Given the description of an element on the screen output the (x, y) to click on. 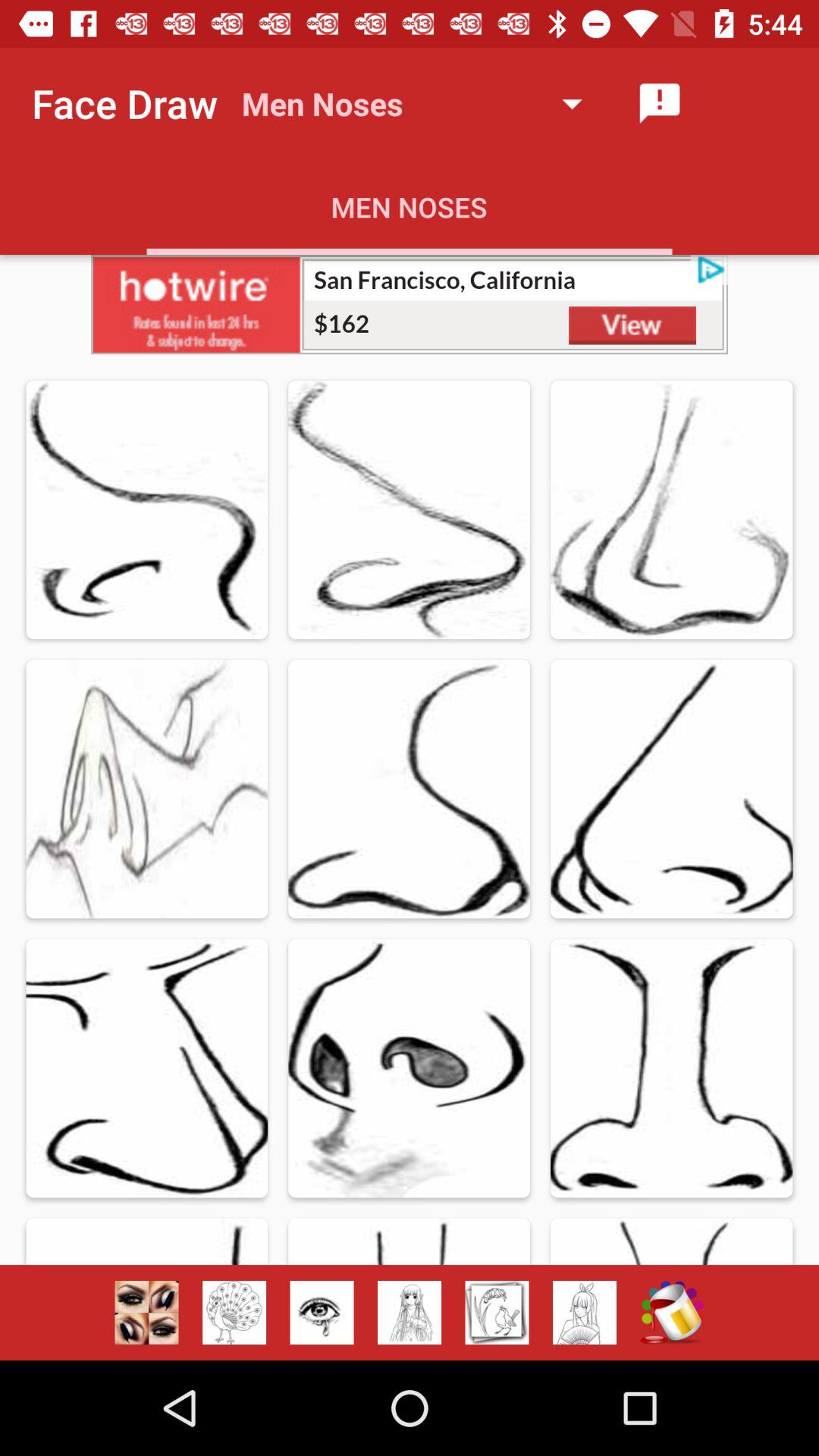
draw eyes (321, 1312)
